Given the description of an element on the screen output the (x, y) to click on. 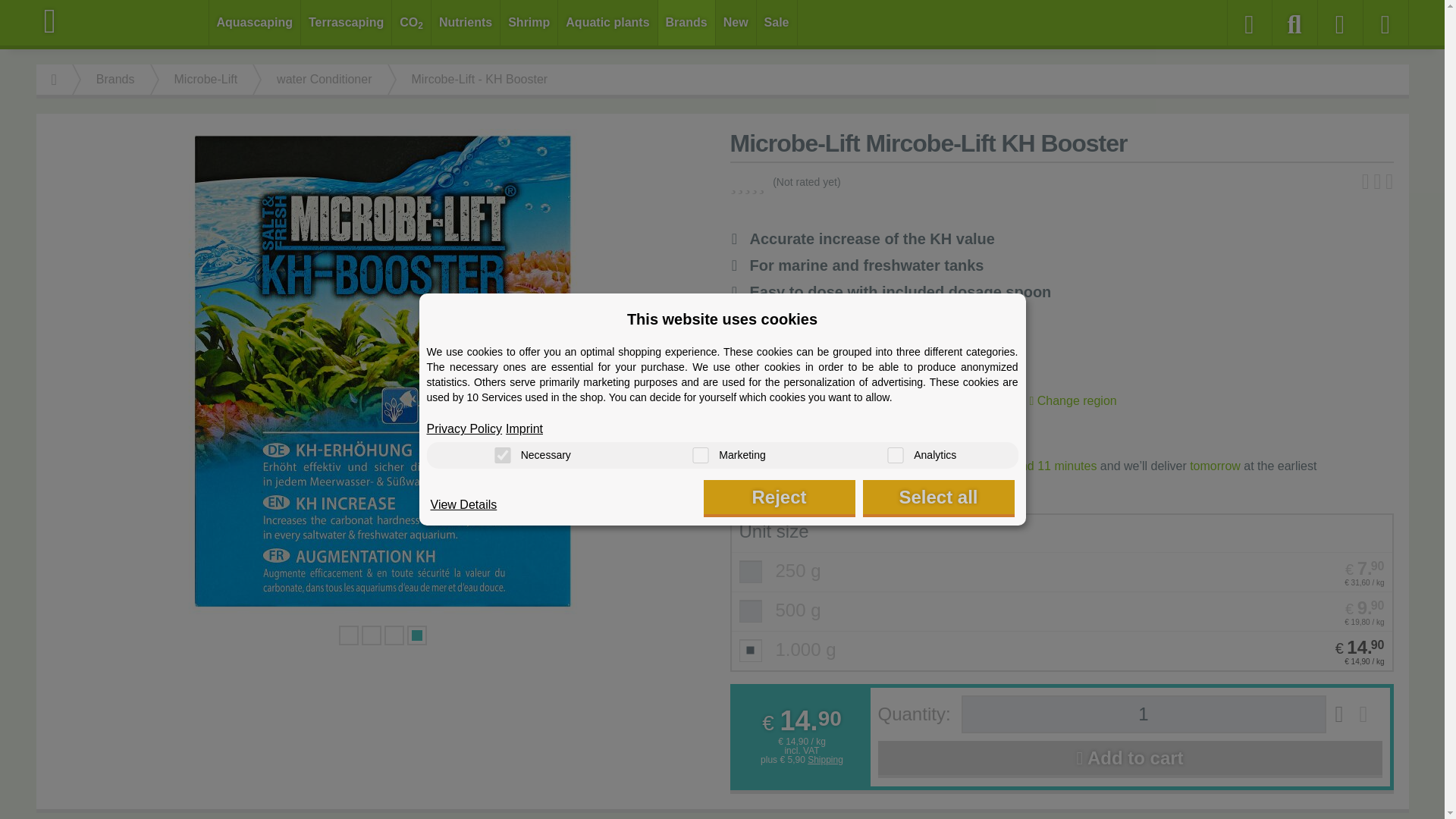
on (895, 455)
on (501, 455)
on (699, 455)
1 (1143, 714)
Aquascaping (254, 22)
Aquasabi (123, 21)
